Given the description of an element on the screen output the (x, y) to click on. 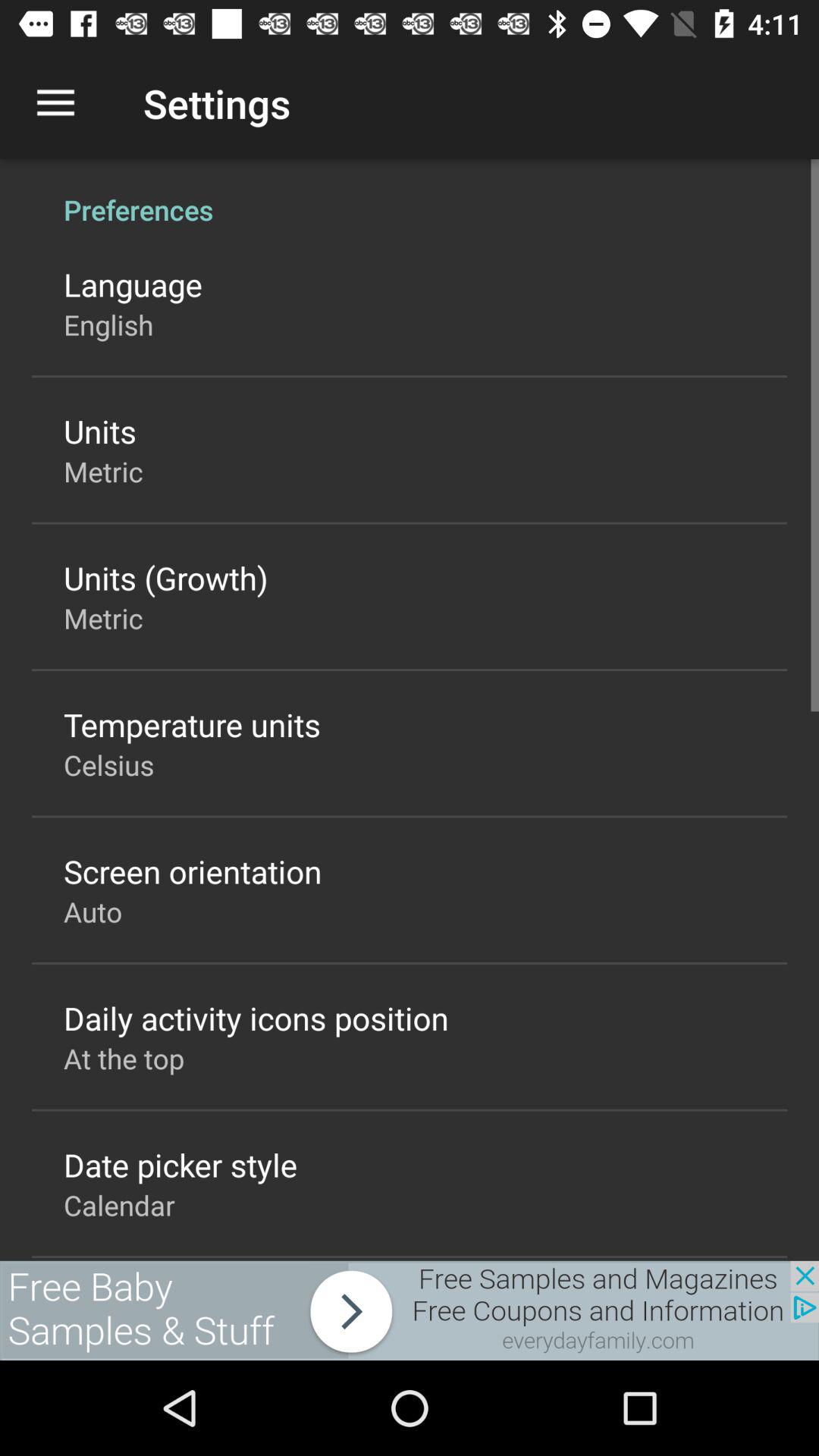
advertisement bar (409, 1310)
